Given the description of an element on the screen output the (x, y) to click on. 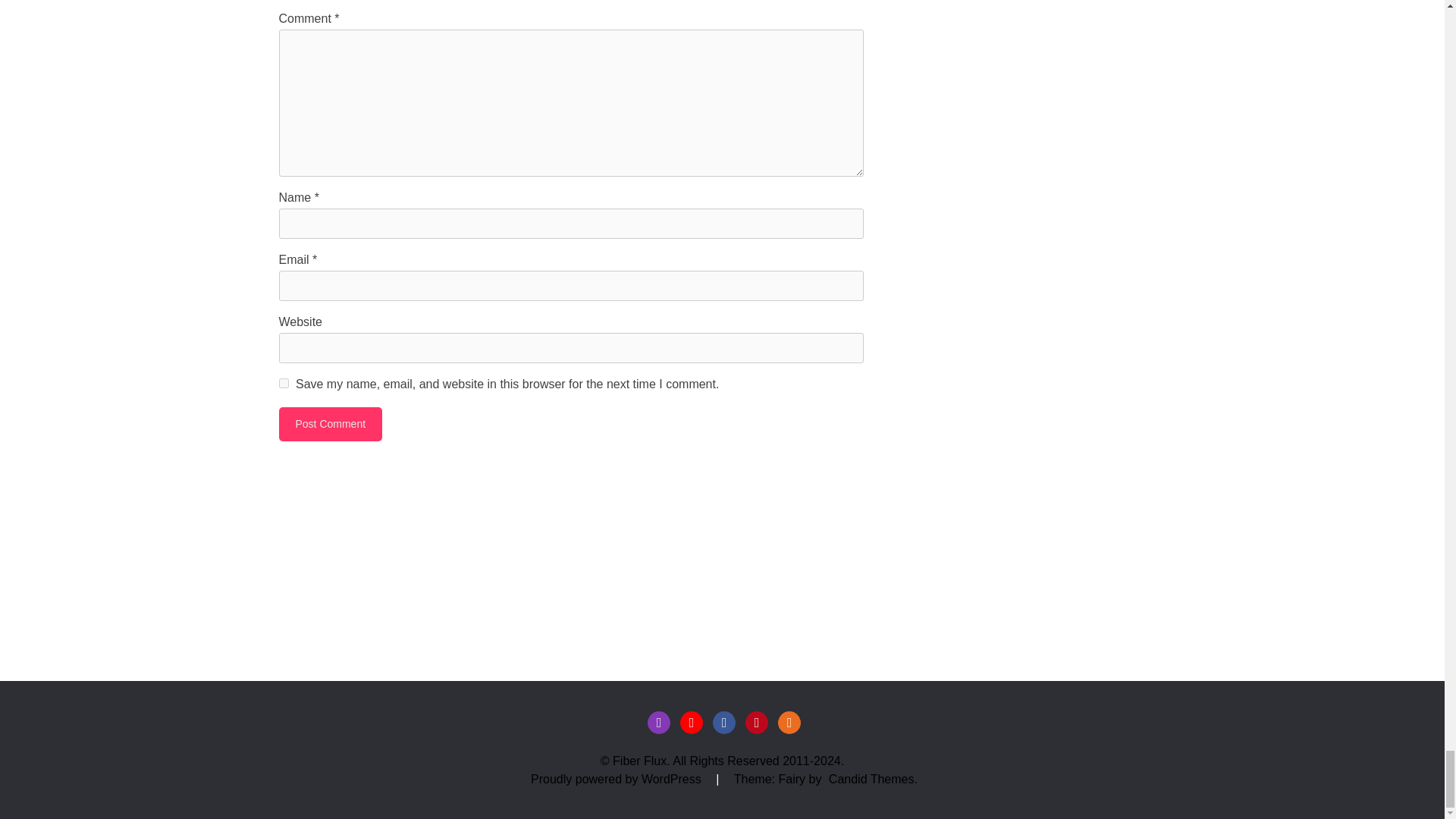
yes (283, 383)
Post Comment (330, 424)
